Given the description of an element on the screen output the (x, y) to click on. 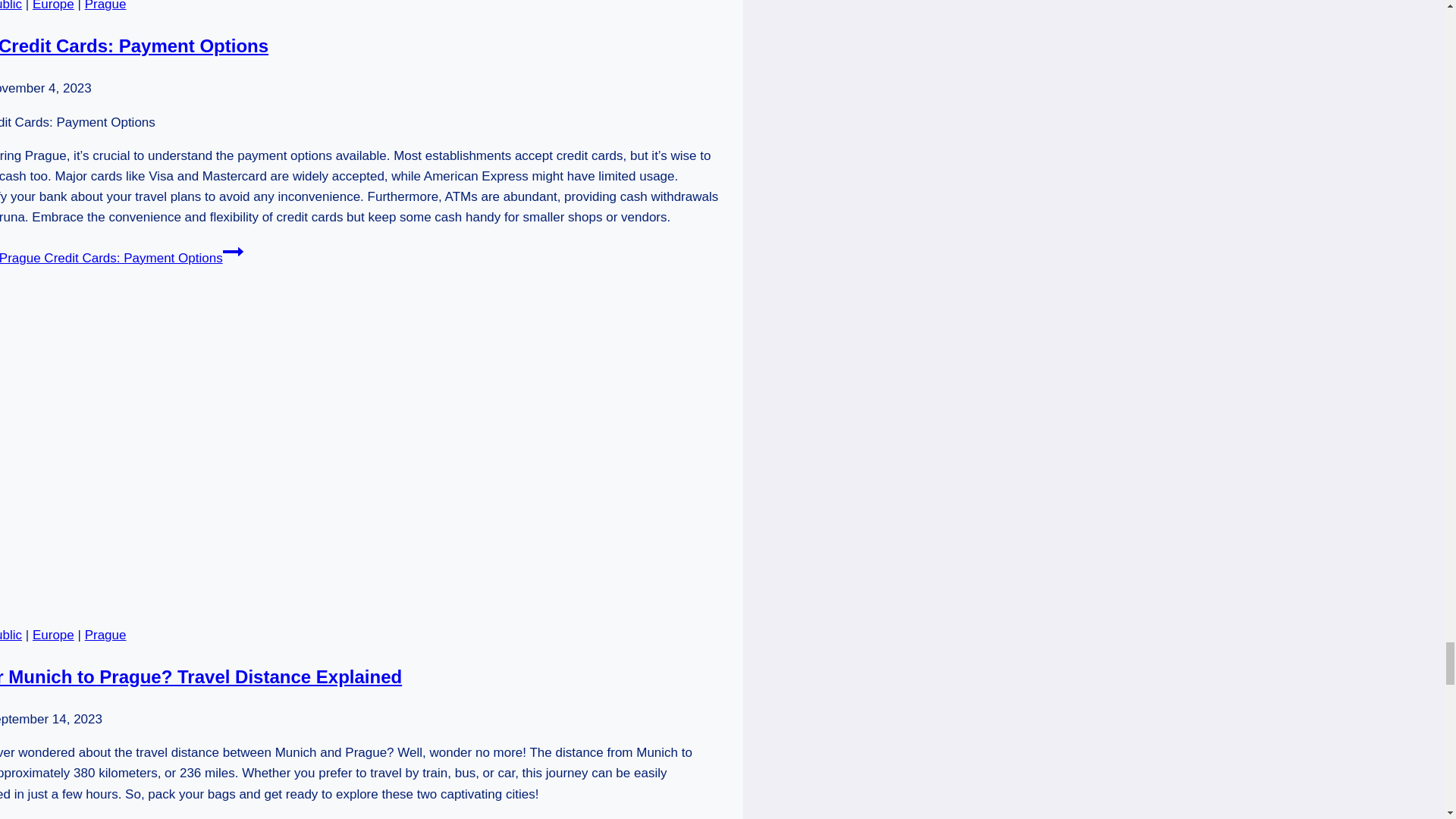
Czech Republic (10, 5)
Continue (232, 251)
Continue (323, 818)
